Given the description of an element on the screen output the (x, y) to click on. 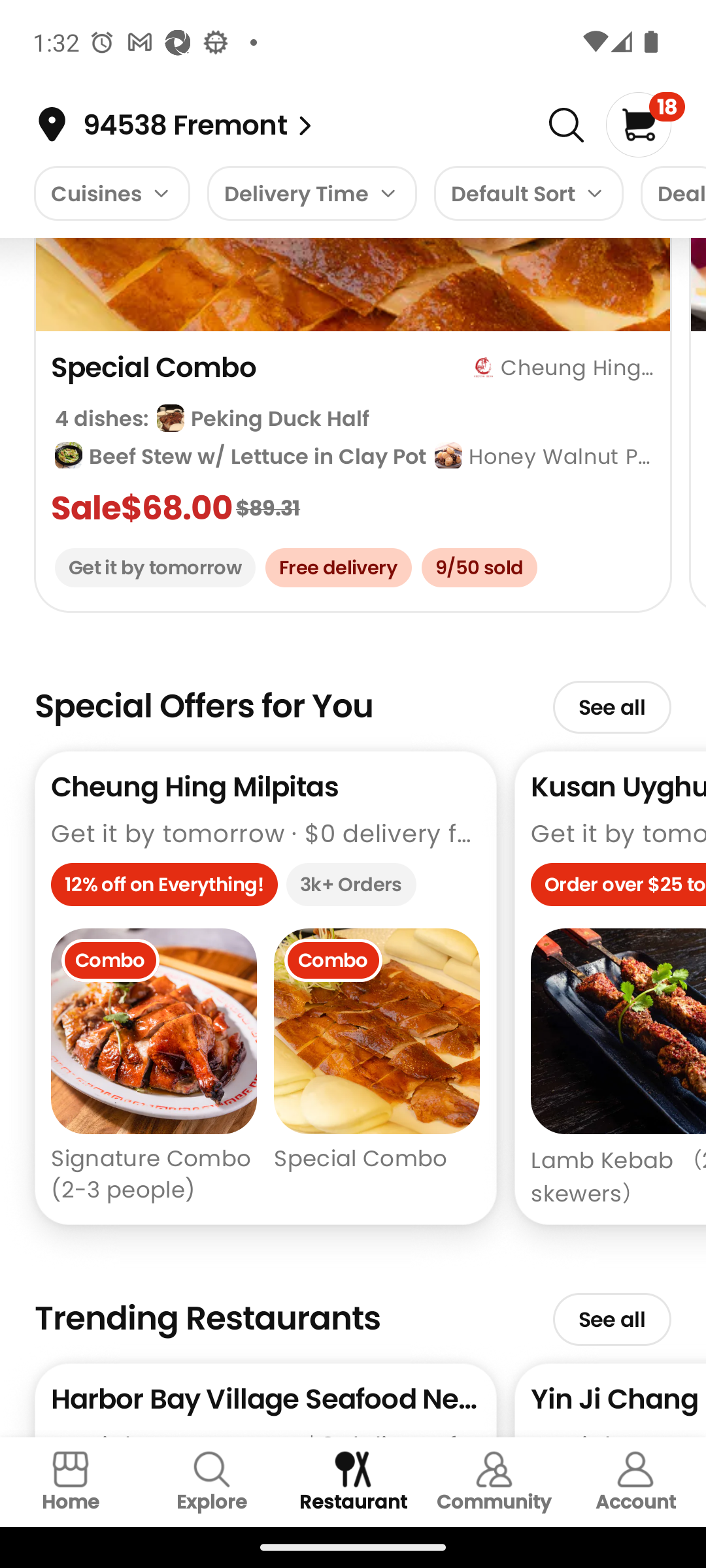
Image (565, 125)
94538 Fremont Image (304, 124)
18 (644, 124)
Cuisines Image (111, 193)
Delivery Time Image (312, 193)
Default Sort Image (528, 193)
Special Offers for You See all (353, 698)
12% off on Everything! 3k+ Orders (265, 888)
Order over $25 to get $6 off (618, 888)
Combo Signature Combo (2-3 people) (153, 1067)
Combo Special Combo (376, 1067)
Lamb Kebab （2 skewers） (618, 1067)
Trending Restaurants See all (353, 1310)
Home (70, 1482)
Explore (211, 1482)
Restaurant (352, 1482)
Community (493, 1482)
Account (635, 1482)
